Given the description of an element on the screen output the (x, y) to click on. 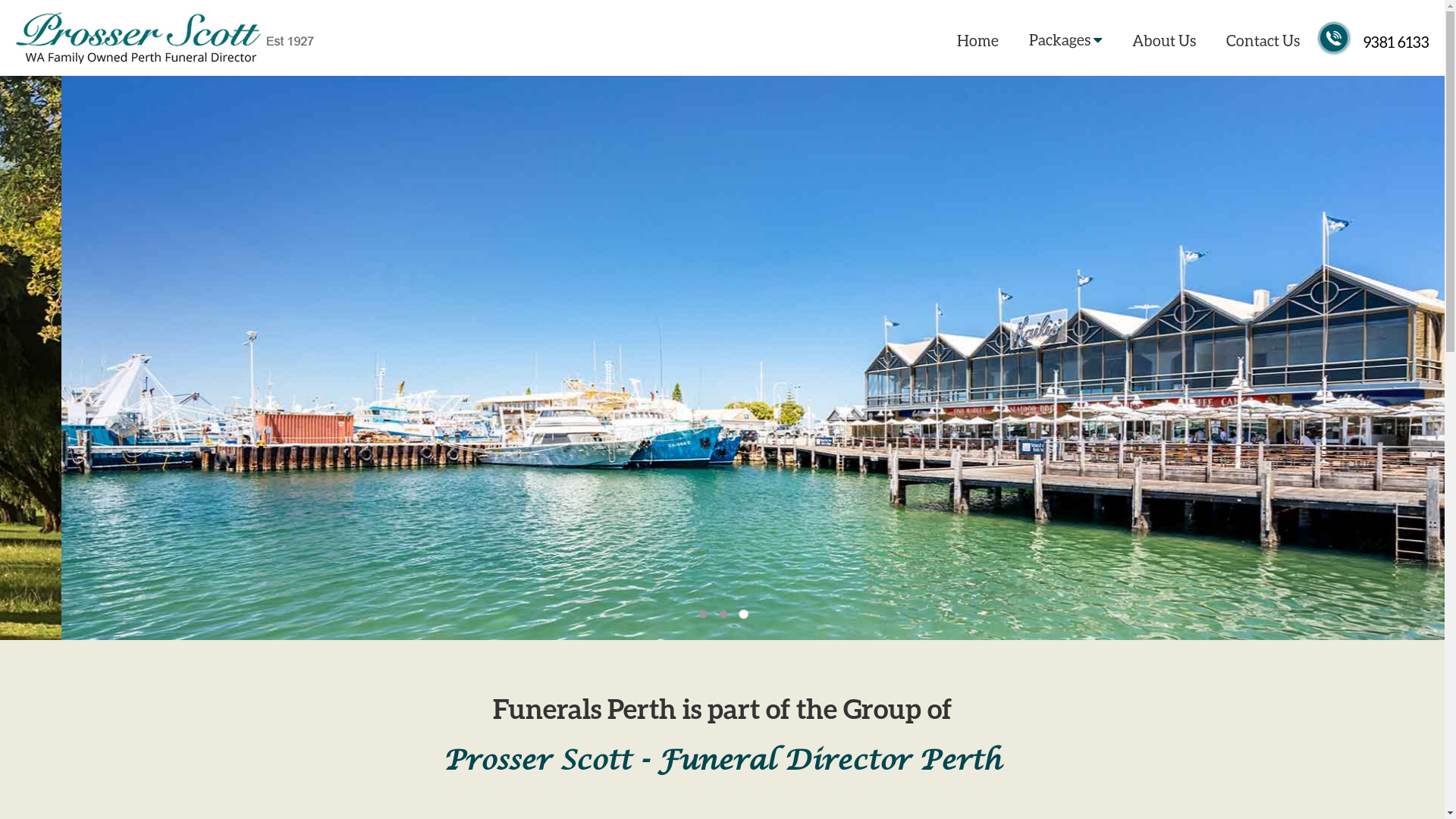
Packages Element type: text (1065, 41)
About Us Element type: text (1164, 41)
Home Element type: text (977, 41)
9381 6133 Element type: text (1396, 41)
Contact Us Element type: text (1262, 41)
